Given the description of an element on the screen output the (x, y) to click on. 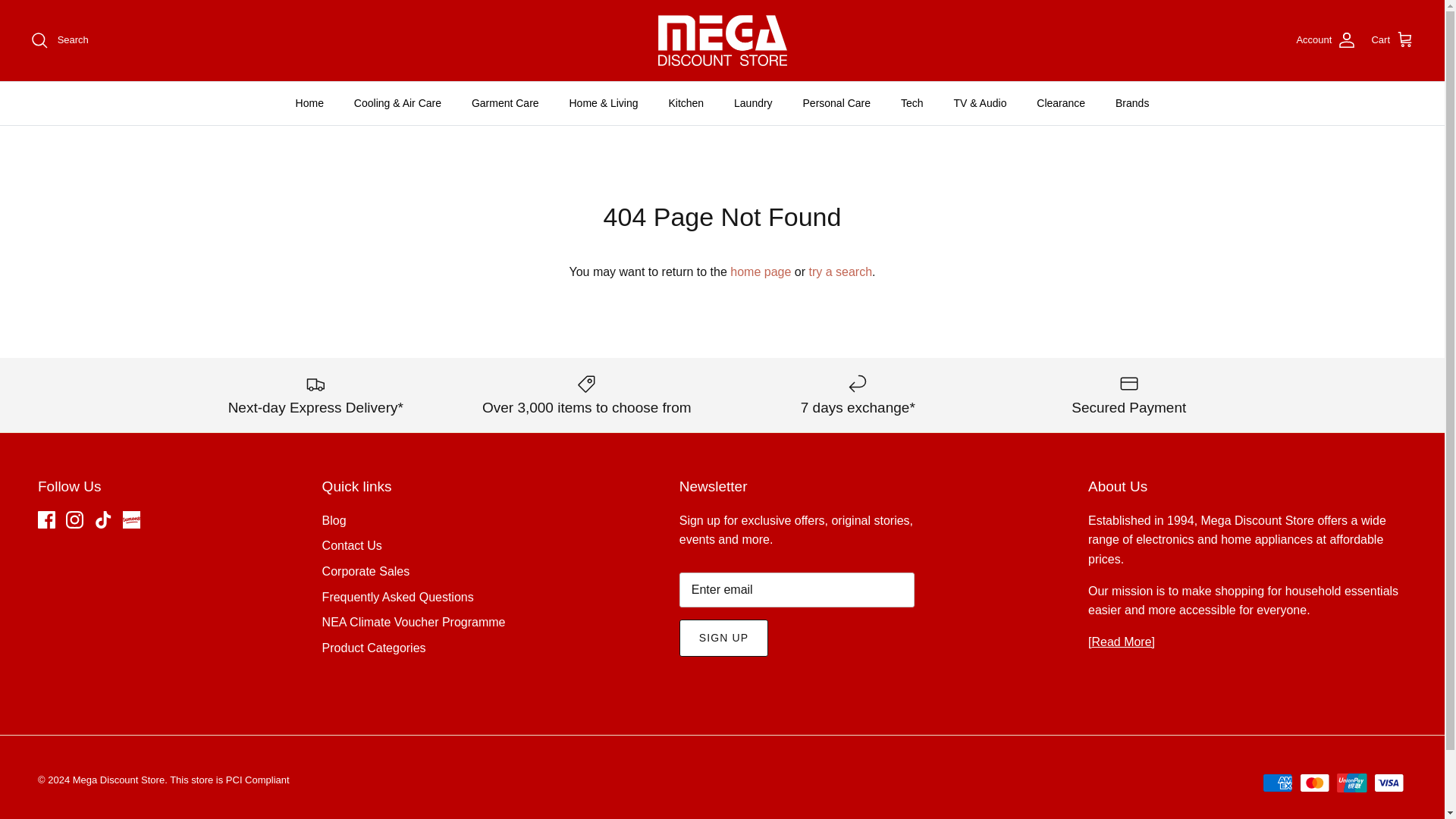
Mega Discount Store (722, 40)
Search (59, 40)
Home (309, 103)
American Express (1277, 782)
Instagram (73, 519)
About Mega Discount Store (1122, 641)
Facebook (46, 519)
Cart (1392, 39)
Mastercard (1314, 782)
Account (1325, 40)
Visa (1388, 782)
Union Pay (1351, 782)
